Given the description of an element on the screen output the (x, y) to click on. 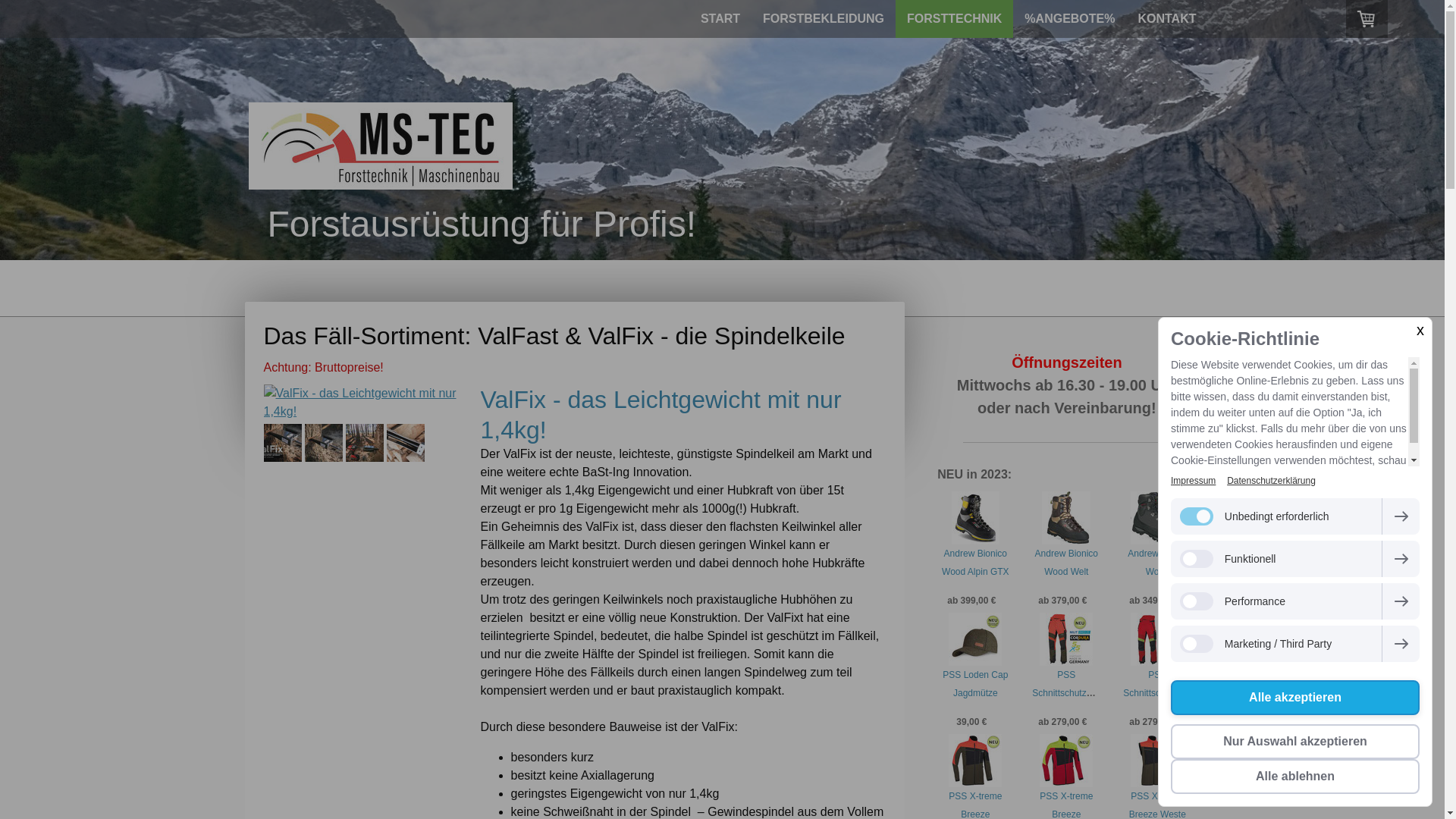
PSS Schnittschutzhose Xtreme Breeze Rot/Gelb Element type: text (1159, 701)
%ANGEBOTE% Element type: text (1069, 18)
Andrew Bionico Wood Alpin GTX Schnittschutzschuh s Element type: text (980, 580)
START Element type: text (720, 18)
FORSTTECHNIK Element type: text (954, 18)
Nur Auswahl akzeptieren Element type: text (1294, 741)
Andrew Bionico Wood Welt Schnittschutzschuh mit Le Element type: text (1071, 580)
Alle ablehnen Element type: text (1294, 776)
FORSTBEKLEIDUNG Element type: text (823, 18)
KONTAKT Element type: text (1166, 18)
Andrew Rozes Wood Schnittschutzschuh grau Element type: text (1162, 580)
Impressum Element type: text (1192, 480)
Alle akzeptieren Element type: text (1294, 697)
